Given the description of an element on the screen output the (x, y) to click on. 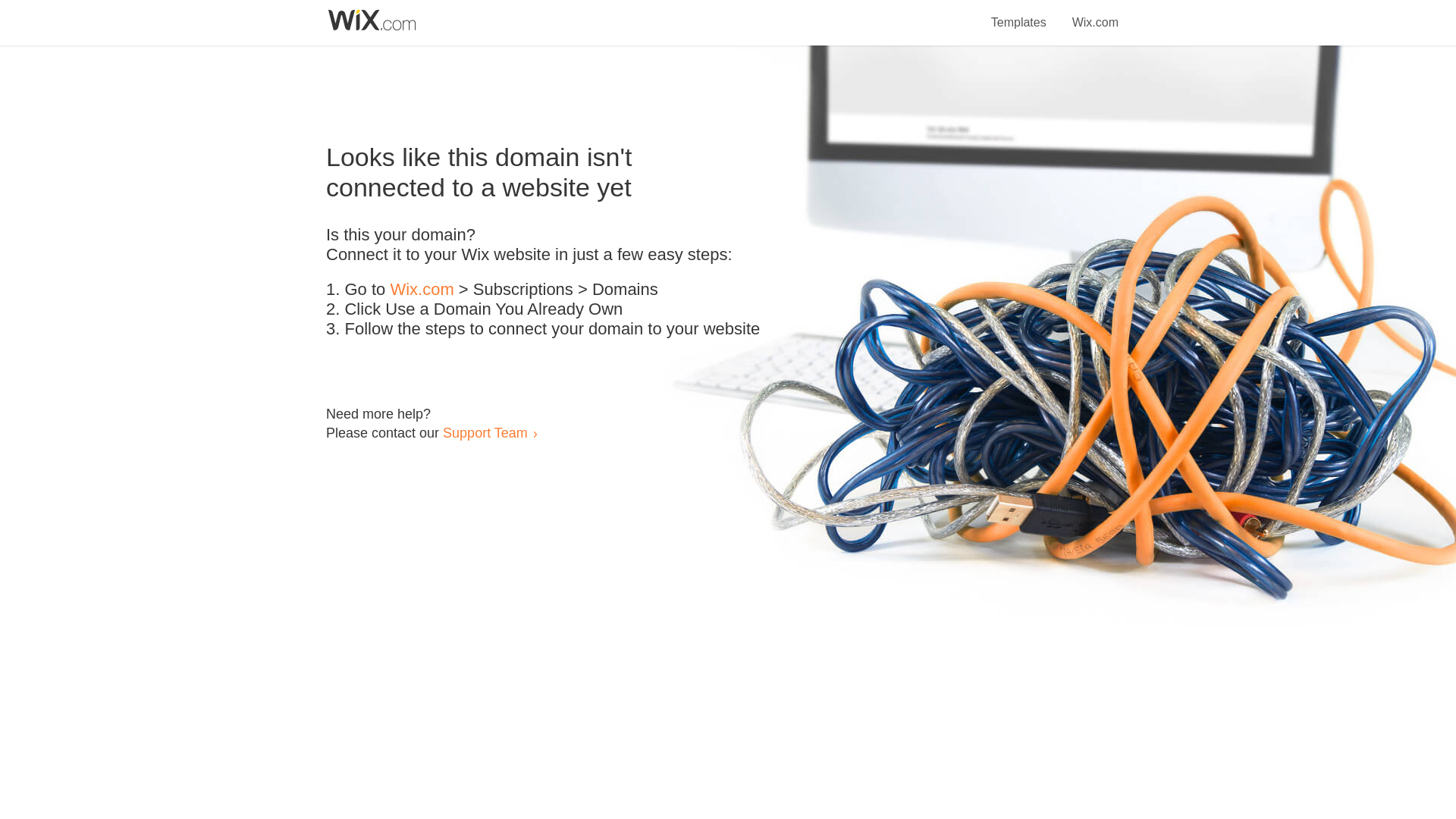
Templates (1018, 14)
Wix.com (1095, 14)
Wix.com (421, 289)
Support Team (484, 432)
